Given the description of an element on the screen output the (x, y) to click on. 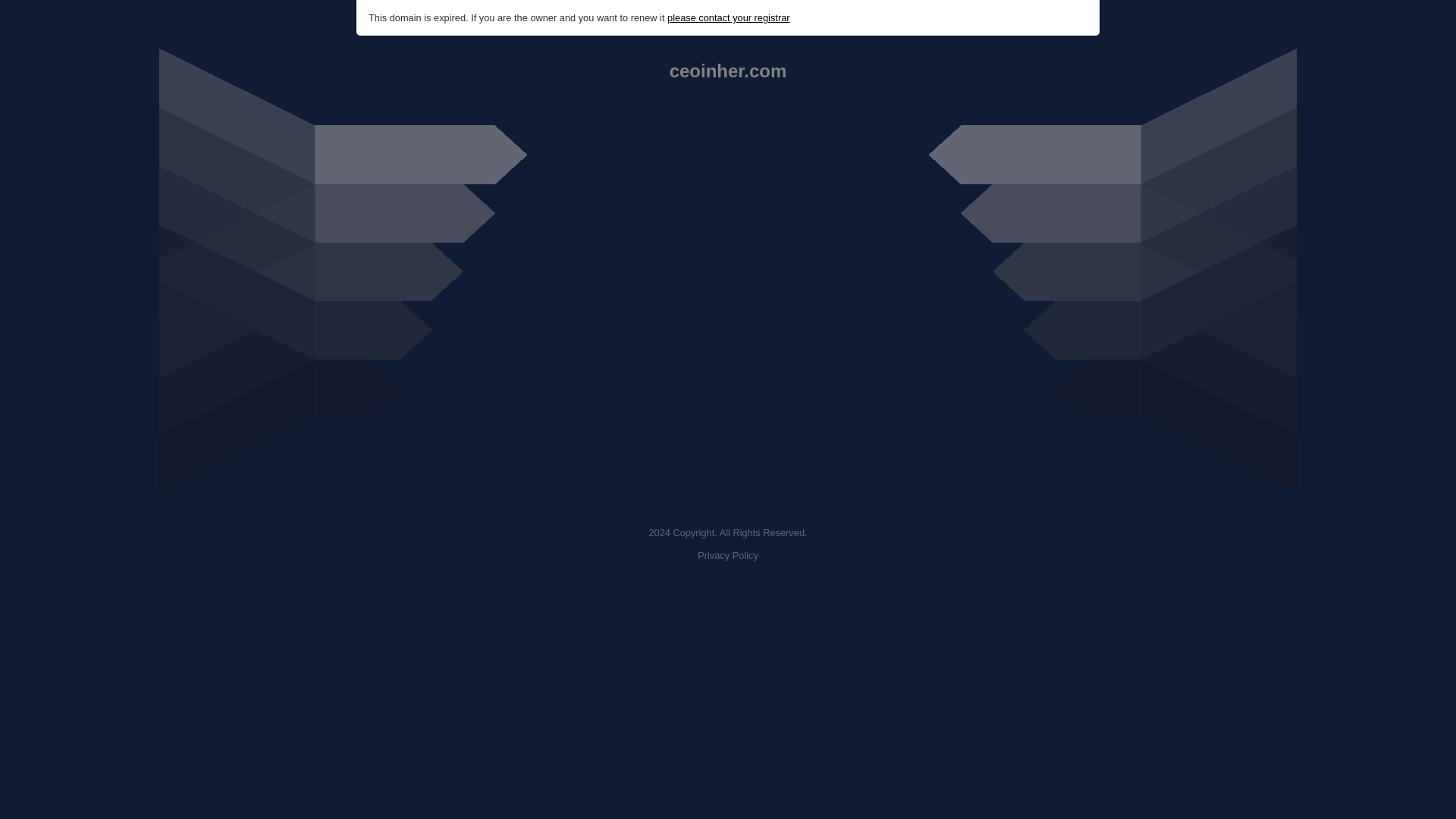
Privacy Policy (727, 555)
please contact your registrar (727, 17)
